Given the description of an element on the screen output the (x, y) to click on. 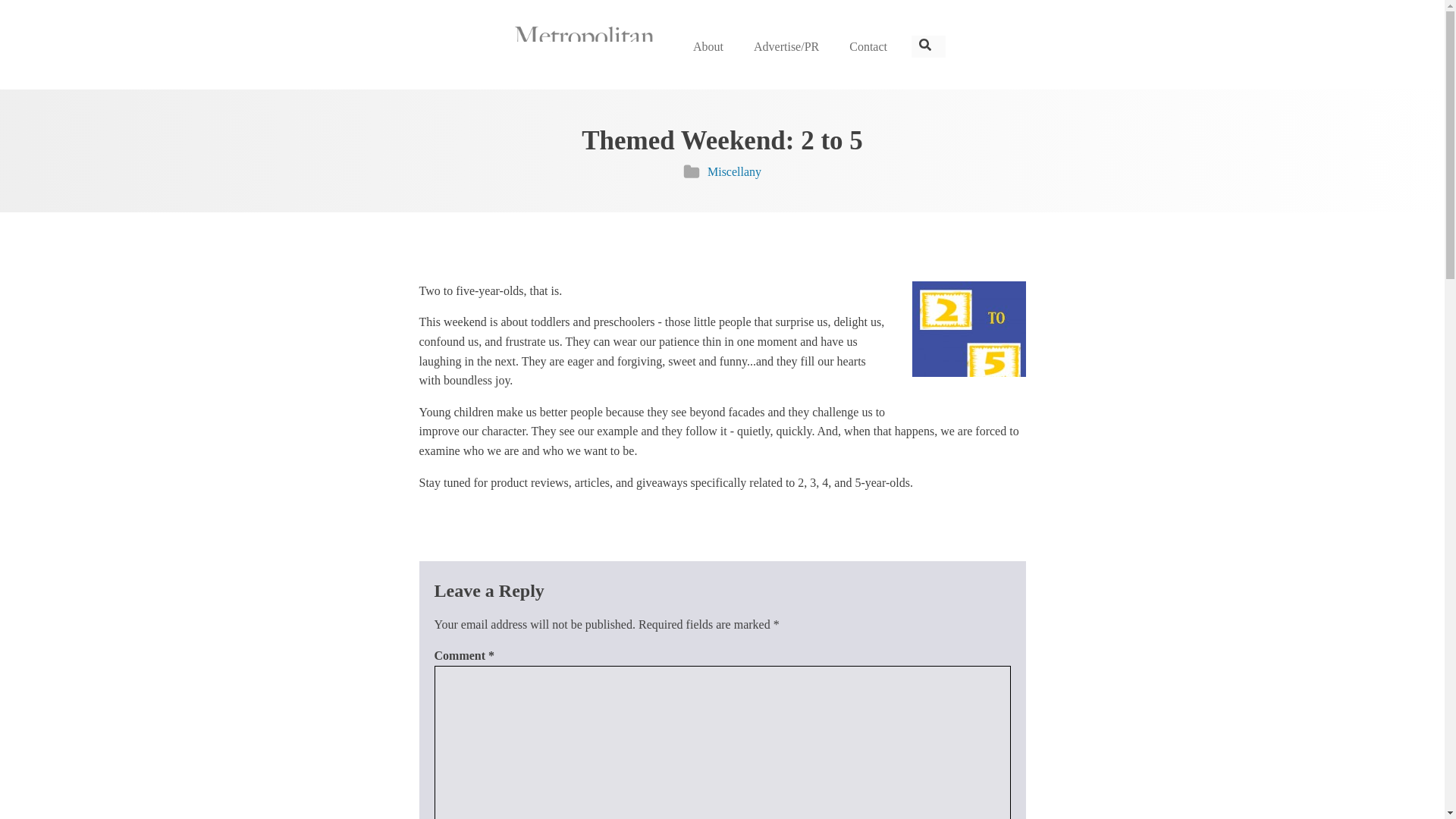
Miscellany (734, 171)
Contact (868, 46)
About (708, 46)
2-to-5 (968, 335)
Search for: (927, 47)
Search (29, 16)
